Given the description of an element on the screen output the (x, y) to click on. 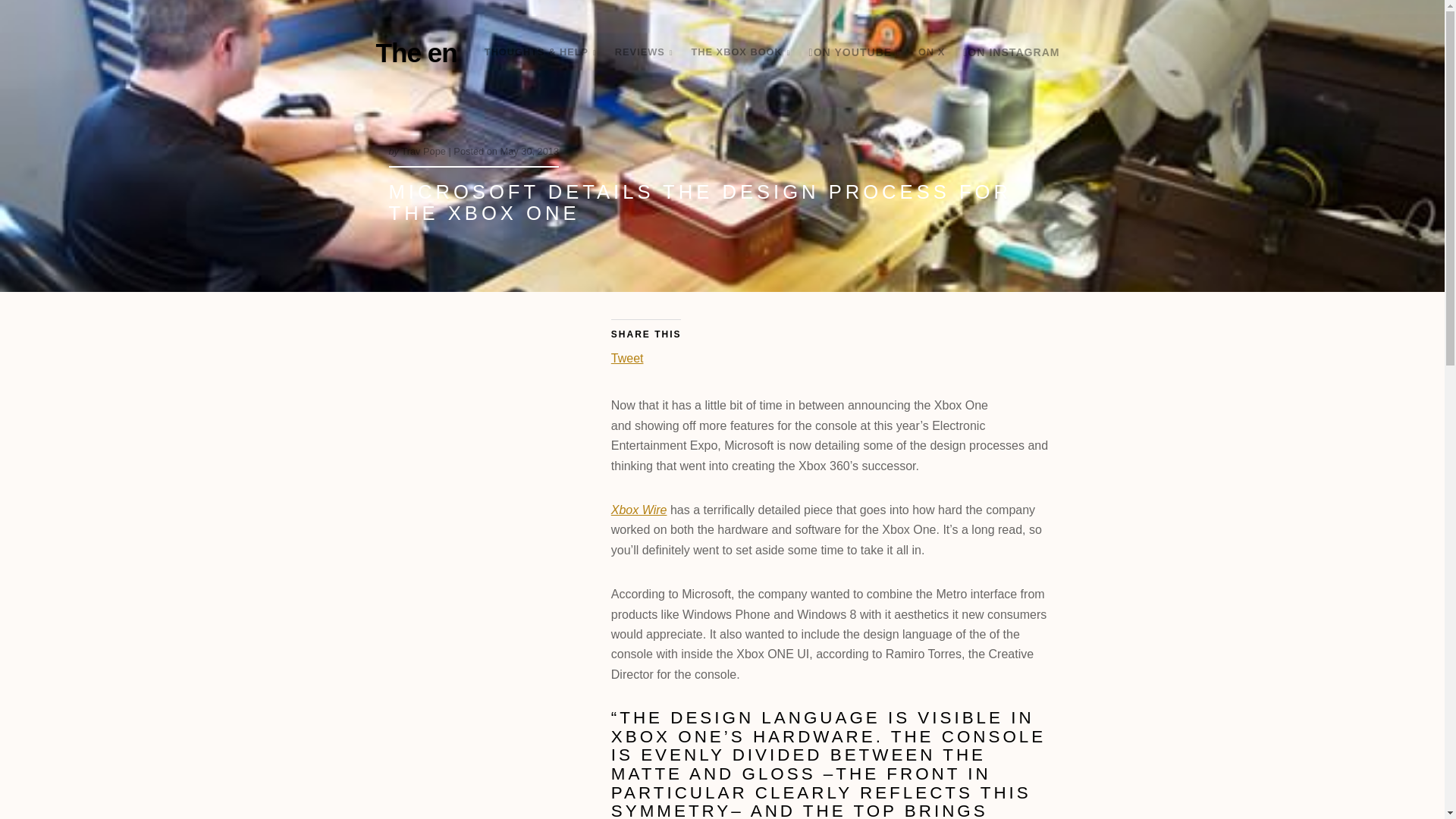
Tweet (627, 355)
ON INSTAGRAM (1010, 51)
Xbox Wire (638, 509)
ON YOUTUBE (853, 52)
ON X (930, 51)
THE XBOX BOOK (740, 52)
The en (416, 52)
REVIEWS (643, 52)
